Given the description of an element on the screen output the (x, y) to click on. 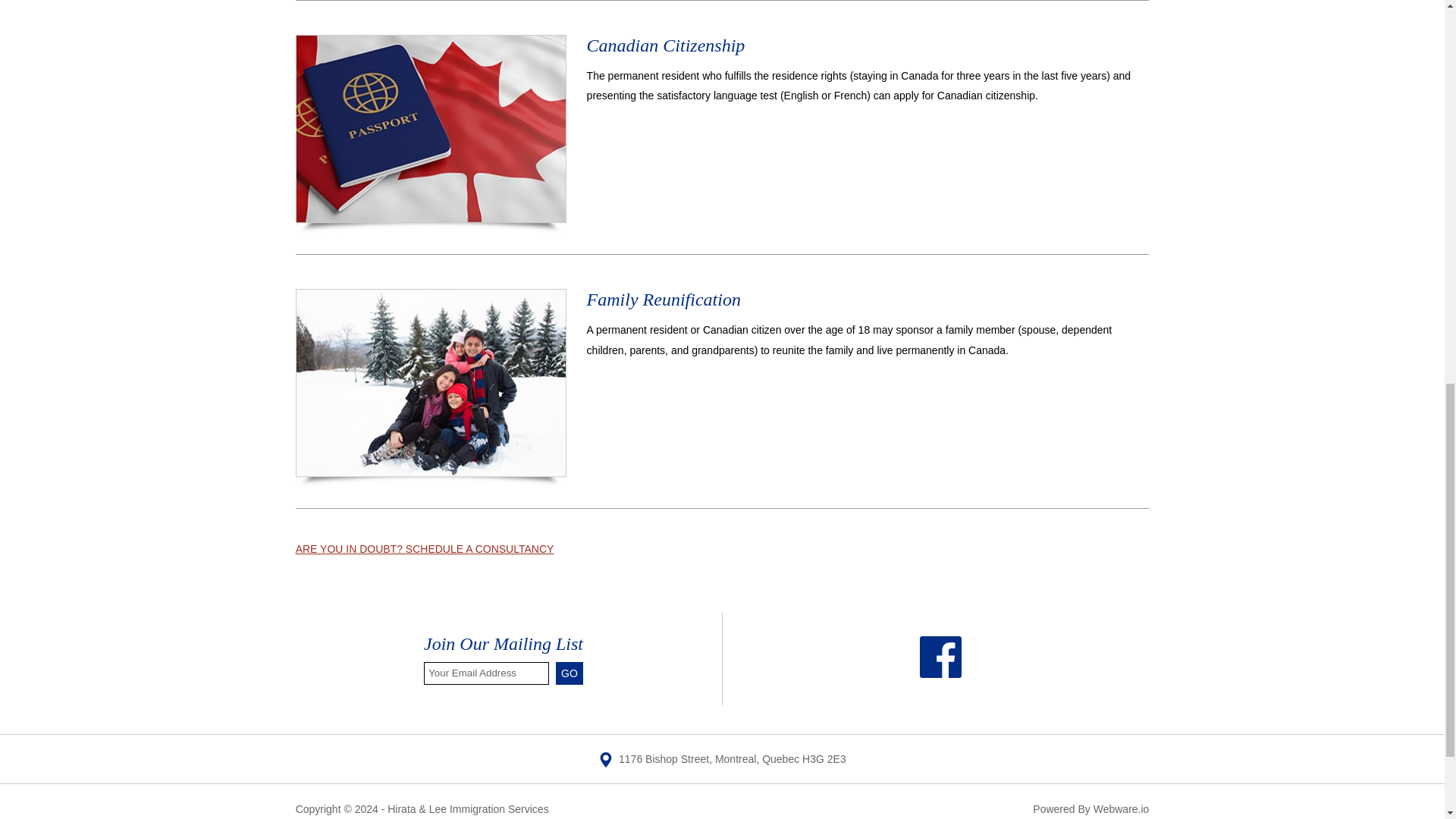
GO (569, 672)
1176 Bishop Street, Montreal, Quebec H3G 2E3 (721, 758)
ARE YOU IN DOUBT? SCHEDULE A CONSULTANCY (424, 548)
Webware.io (1121, 808)
GO (569, 672)
Your email address (485, 672)
